Given the description of an element on the screen output the (x, y) to click on. 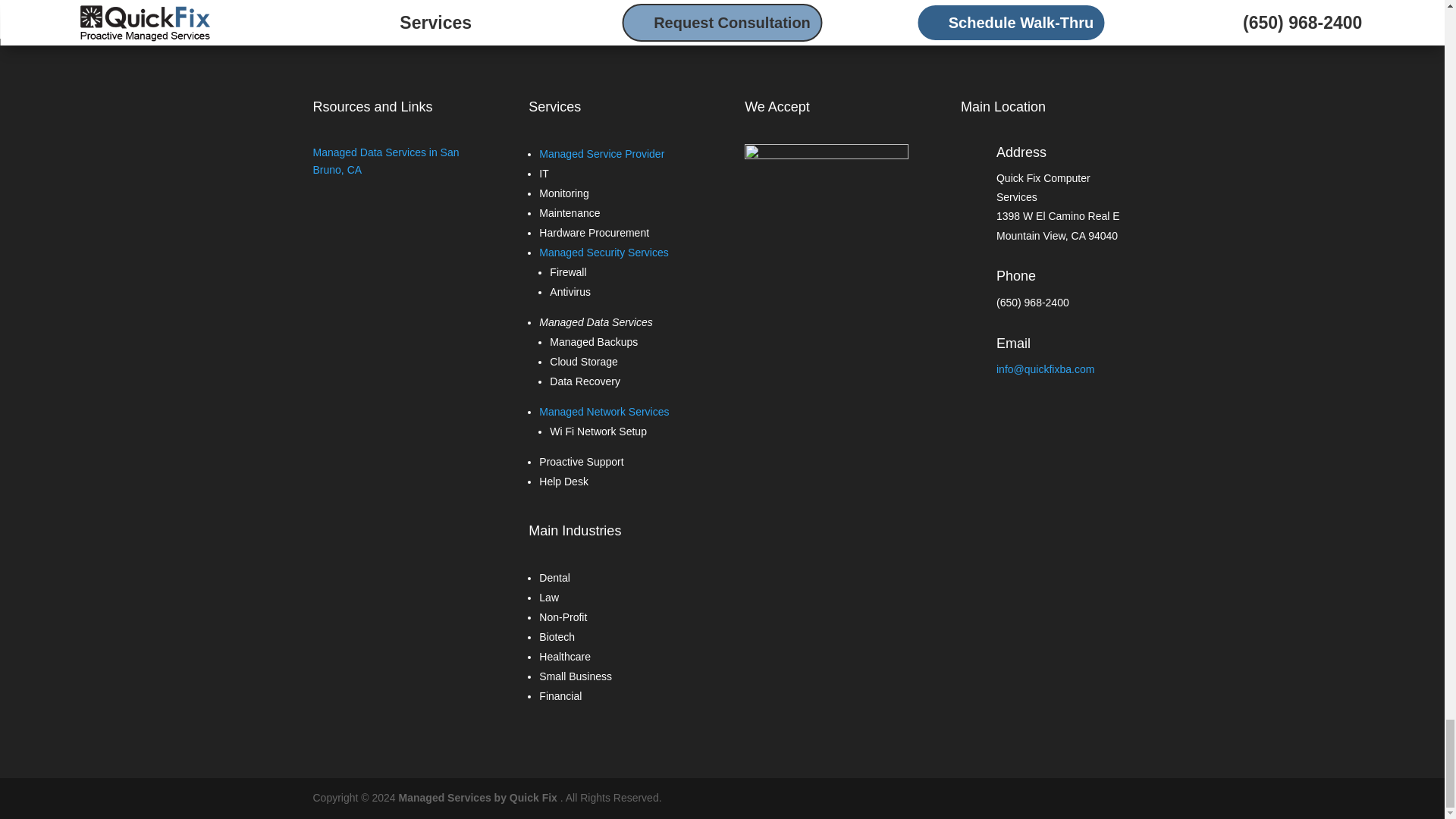
Managed Service Provider (600, 153)
Managed Security Services (603, 252)
Managed Network Services (603, 411)
Managed Data Services in San Bruno, CA (385, 161)
Managed Services by Quick Fix (477, 797)
